Given the description of an element on the screen output the (x, y) to click on. 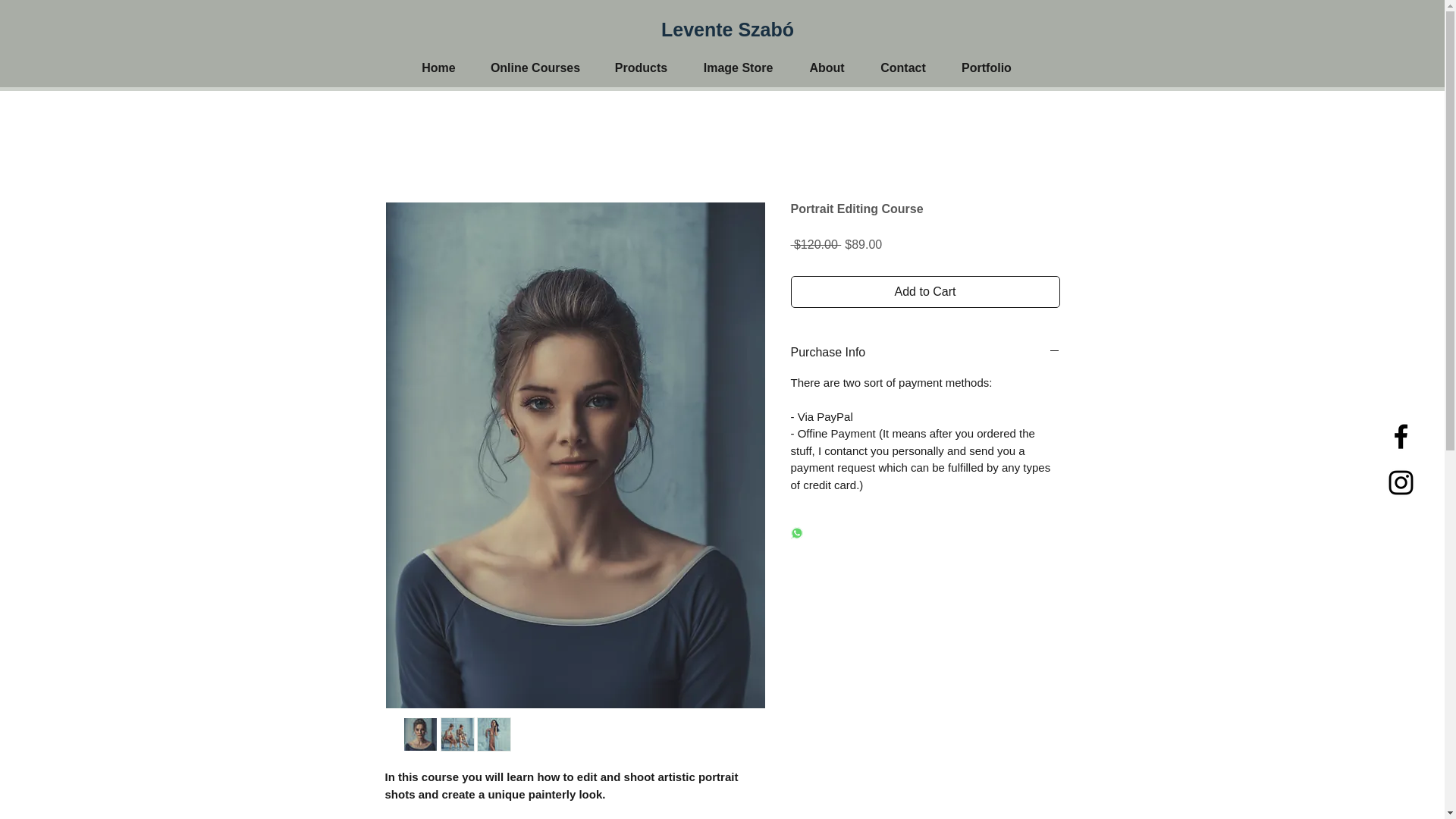
Purchase Info (924, 352)
Contact (903, 68)
Products (640, 68)
About (827, 68)
Online Courses (534, 68)
Image Store (738, 68)
Home (438, 68)
Portfolio (986, 68)
Add to Cart (924, 291)
